Given the description of an element on the screen output the (x, y) to click on. 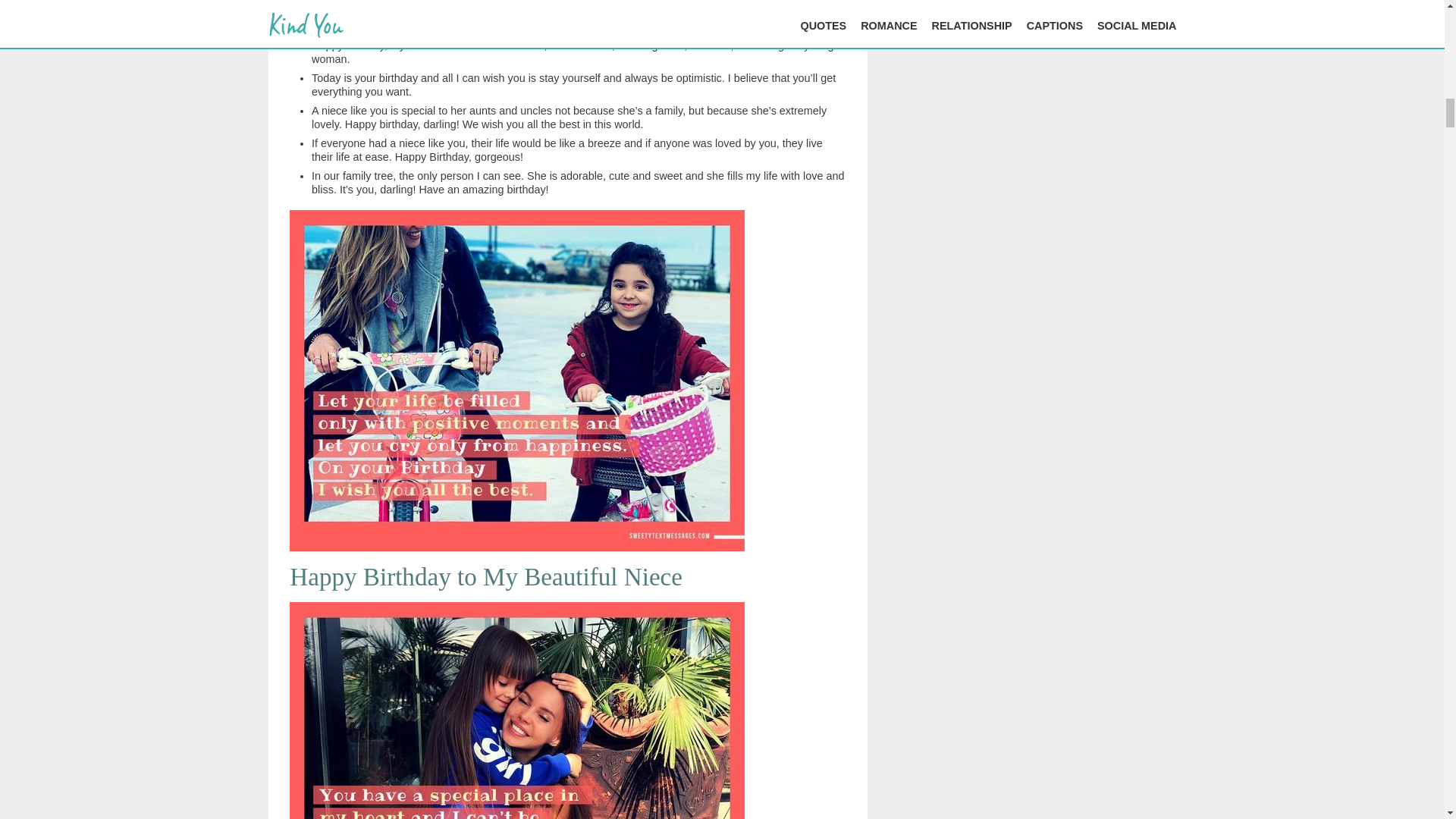
my sister (540, 12)
